Given the description of an element on the screen output the (x, y) to click on. 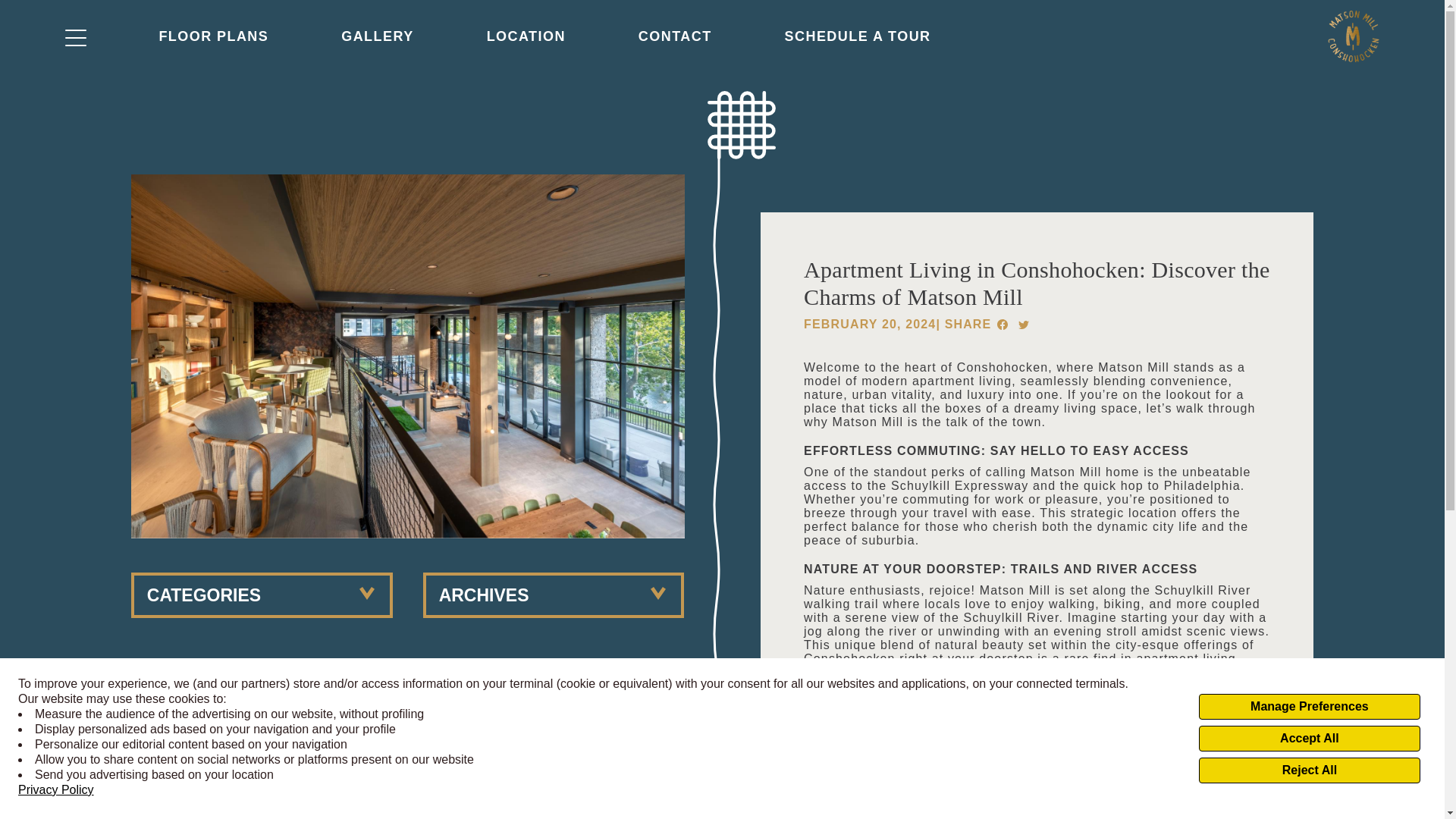
Privacy Policy (55, 789)
CONTACT (675, 42)
Manage Preferences (1309, 706)
GALLERY (376, 42)
ARCHIVES (553, 595)
Reject All (1309, 769)
LOCATION (526, 42)
Accept All (1309, 738)
CATEGORIES (262, 595)
FLOOR PLANS (212, 42)
SCHEDULE A TOUR (857, 42)
